Given the description of an element on the screen output the (x, y) to click on. 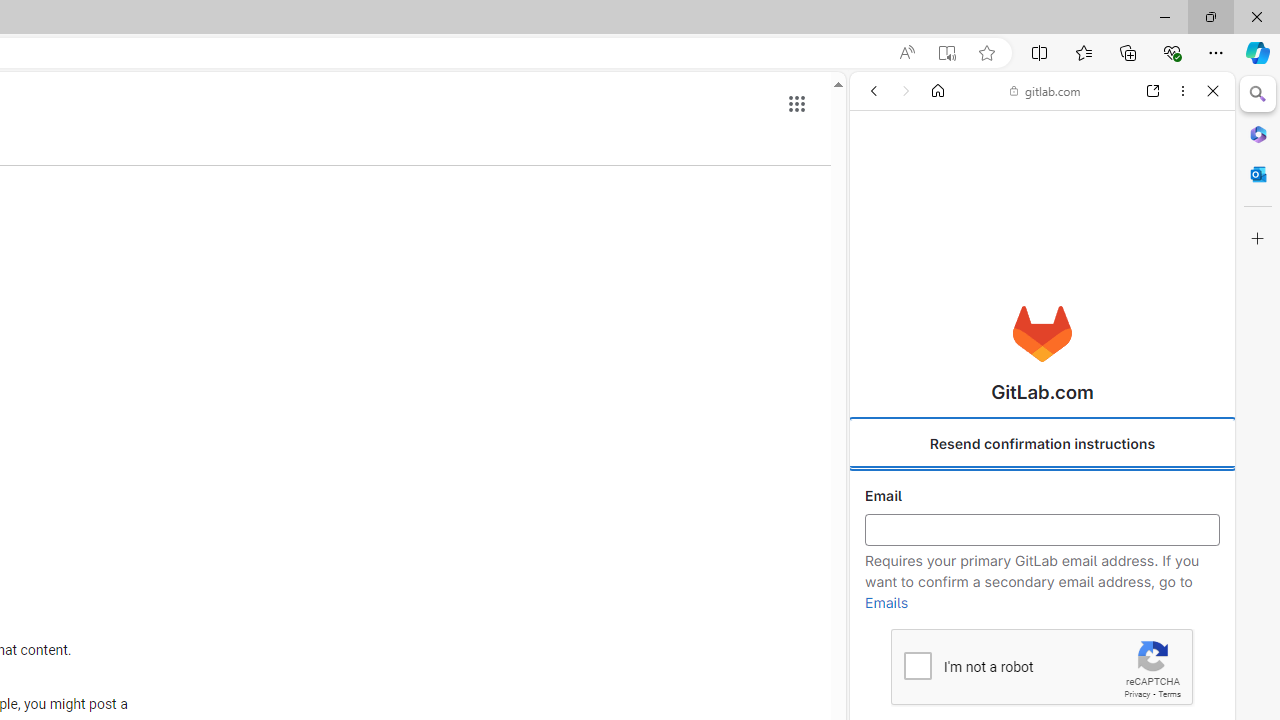
Dashboard (1042, 641)
Terms (1169, 694)
Close Search pane (1258, 94)
Register Now (1042, 445)
About GitLab (1042, 592)
GitLab (1034, 288)
Resend confirmation instructions (1042, 443)
Login (1042, 494)
